Given the description of an element on the screen output the (x, y) to click on. 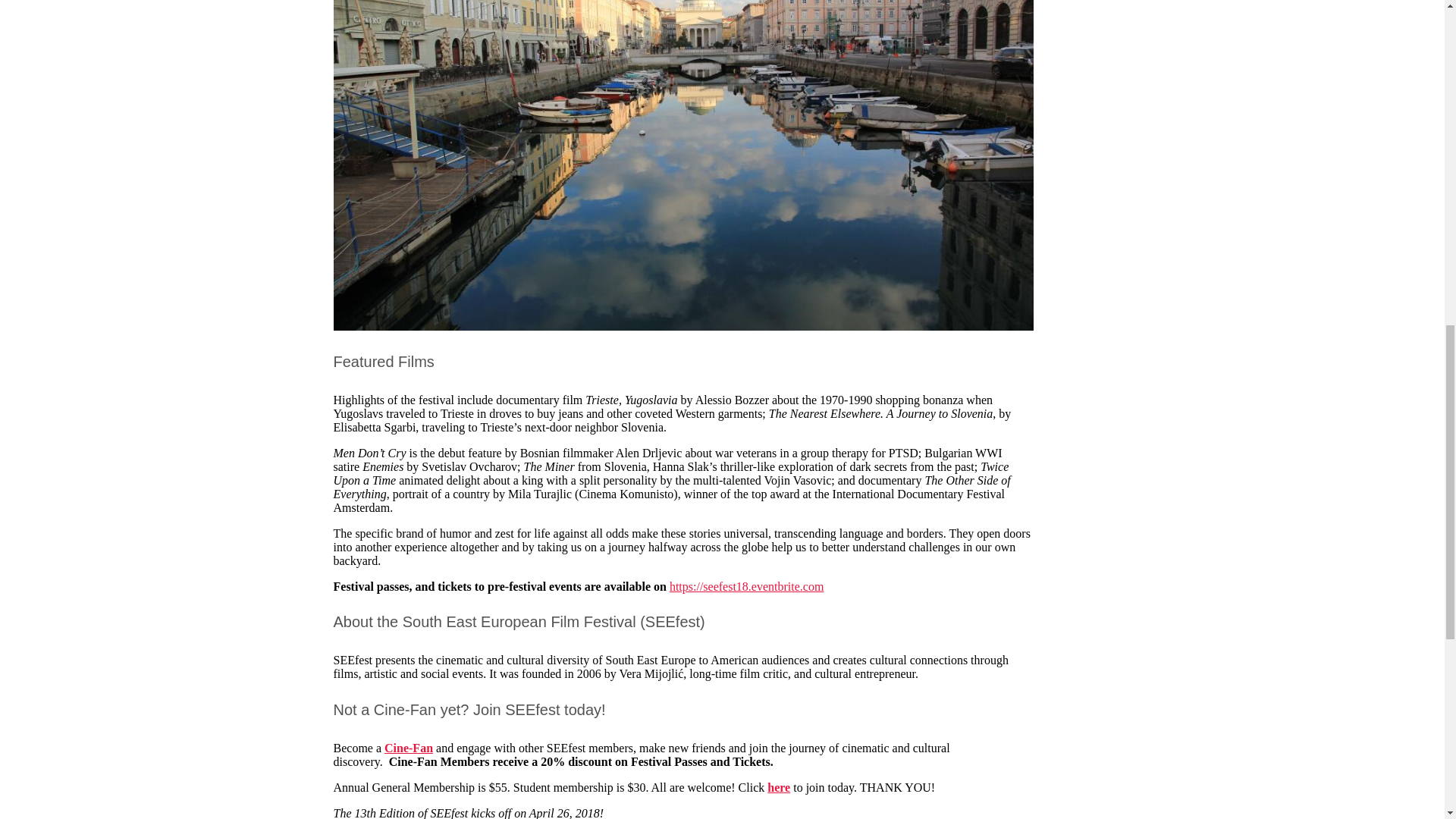
here (778, 787)
Cine-Fan (408, 748)
